Given the description of an element on the screen output the (x, y) to click on. 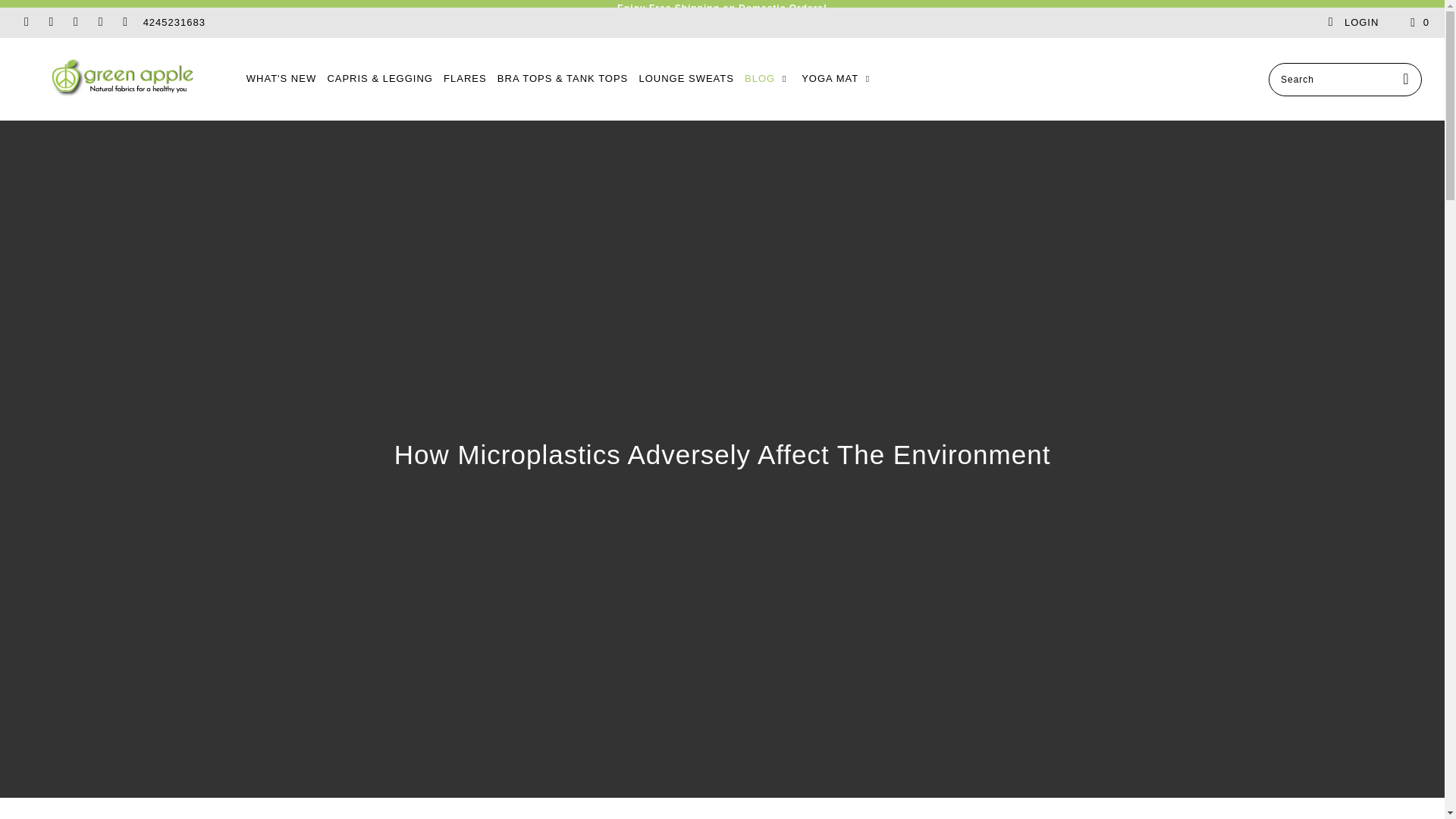
WHAT'S NEW (280, 78)
Green Apple Active  on Pinterest (74, 21)
Green Apple Active  on Instagram (99, 21)
Green Apple Active  on Twitter (25, 21)
LOGIN (1352, 22)
FLARES (465, 78)
LOUNGE SWEATS (686, 78)
My Account  (1352, 22)
4245231683 (173, 22)
Green Apple Active  (122, 79)
Email Green Apple Active  (124, 21)
Green Apple Active  on Facebook (50, 21)
